Given the description of an element on the screen output the (x, y) to click on. 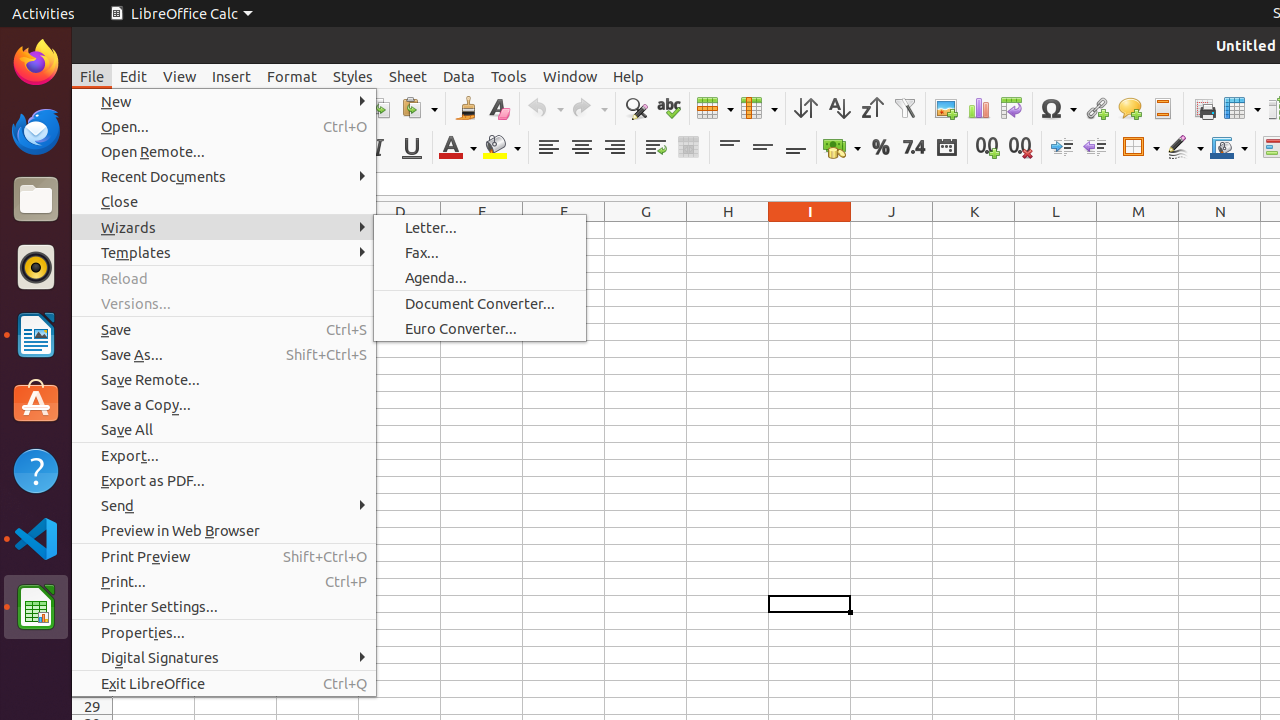
Increase Element type: push-button (1061, 147)
LibreOffice Calc Element type: menu (181, 13)
Image Element type: push-button (945, 108)
Styles Element type: menu (353, 76)
Clone Element type: push-button (465, 108)
